Given the description of an element on the screen output the (x, y) to click on. 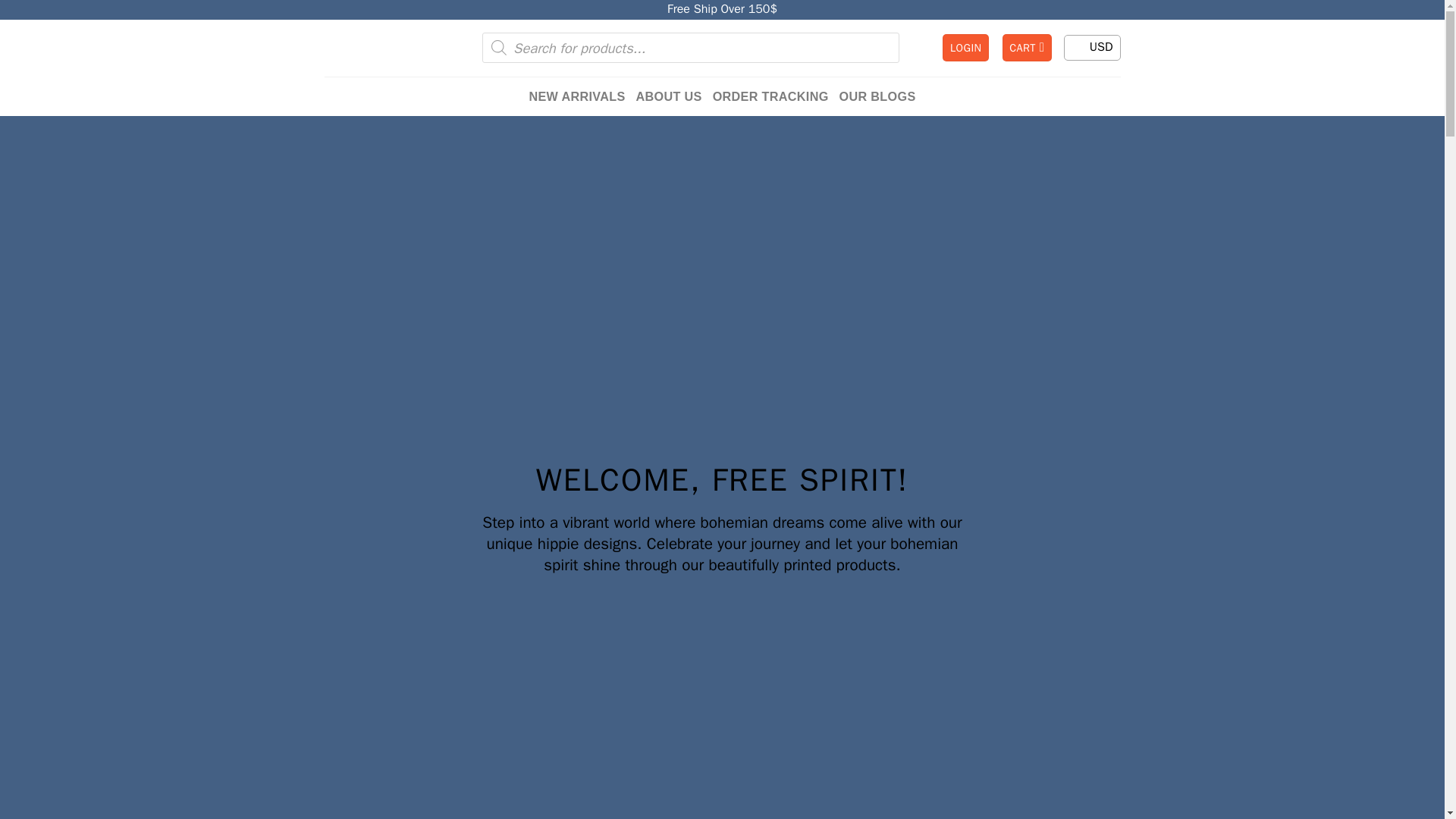
NEW ARRIVALS (576, 96)
ABOUT US (668, 96)
CART (1027, 48)
LOGIN (965, 48)
ORDER TRACKING (770, 96)
Cart (1027, 48)
Ohcustomshirt (380, 47)
OUR BLOGS (877, 96)
